Given the description of an element on the screen output the (x, y) to click on. 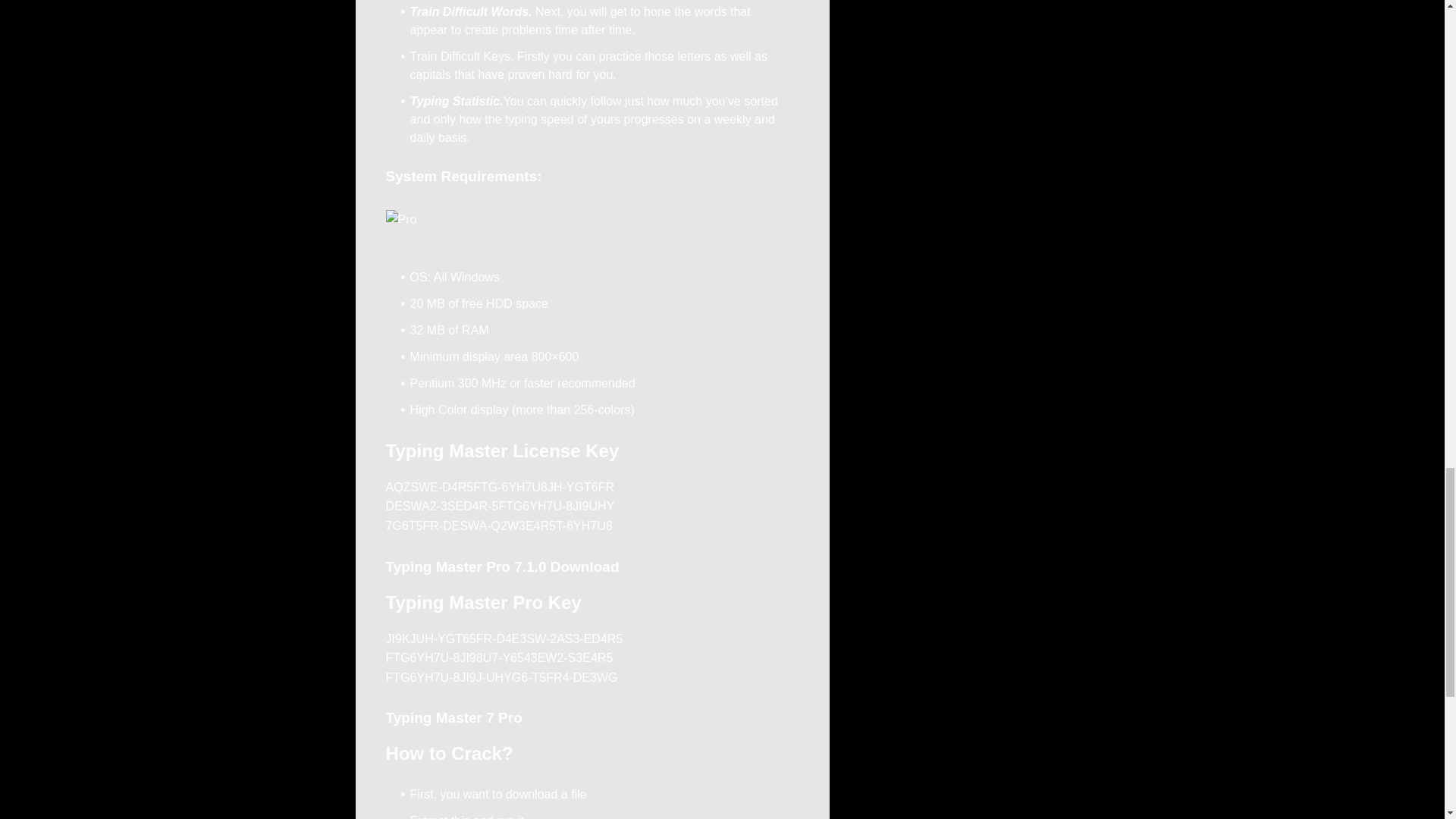
Pro (400, 219)
